Given the description of an element on the screen output the (x, y) to click on. 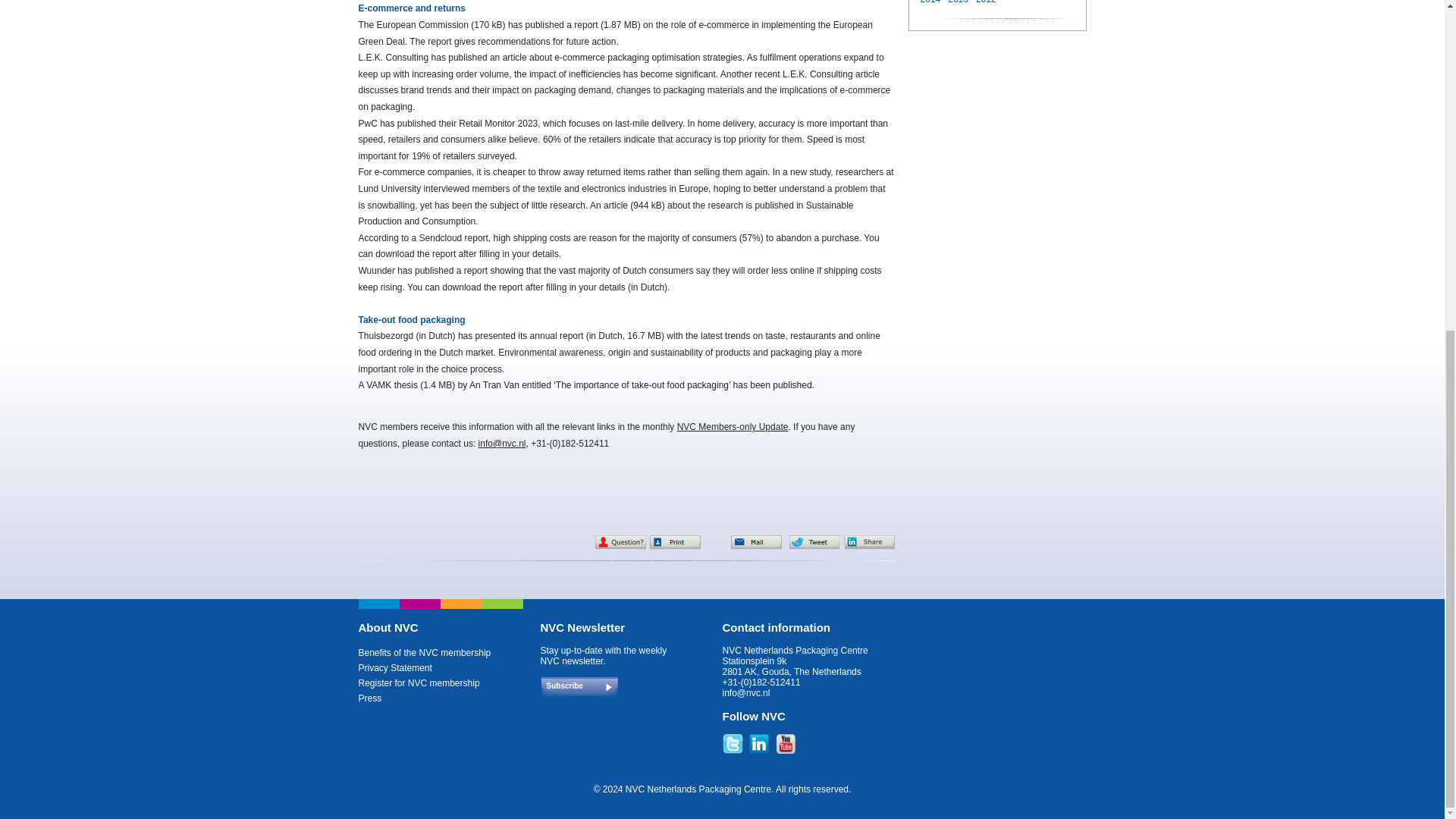
NVC Members-only Update (733, 426)
